Given the description of an element on the screen output the (x, y) to click on. 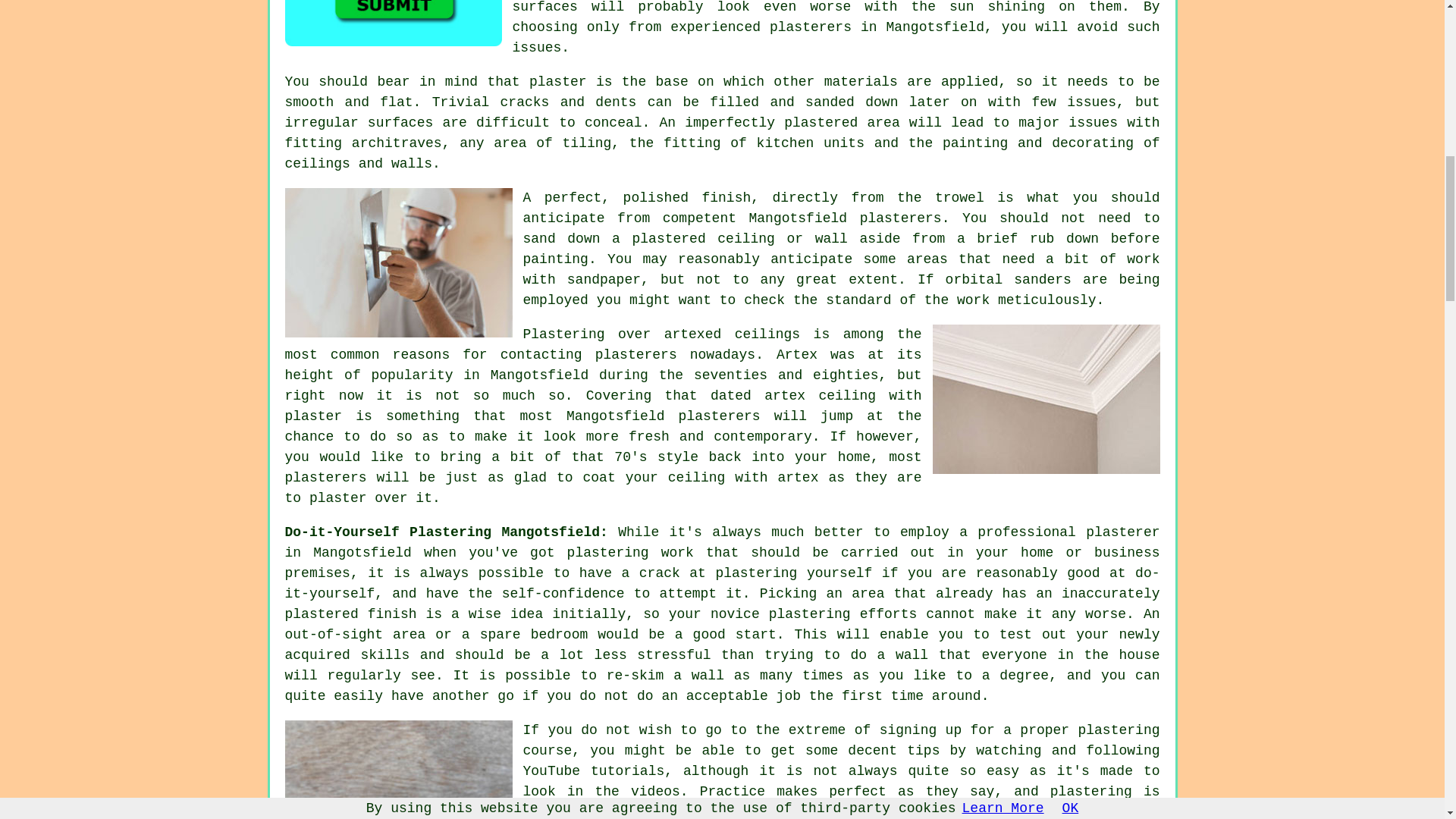
Plastering and Coving Mangotsfield (1046, 399)
Quotes for Plastering in Mangotsfield Gloucestershire (393, 22)
DIY Plastering Mangotsfield UK (398, 769)
Plasterer Mangotsfield (398, 262)
